Given the description of an element on the screen output the (x, y) to click on. 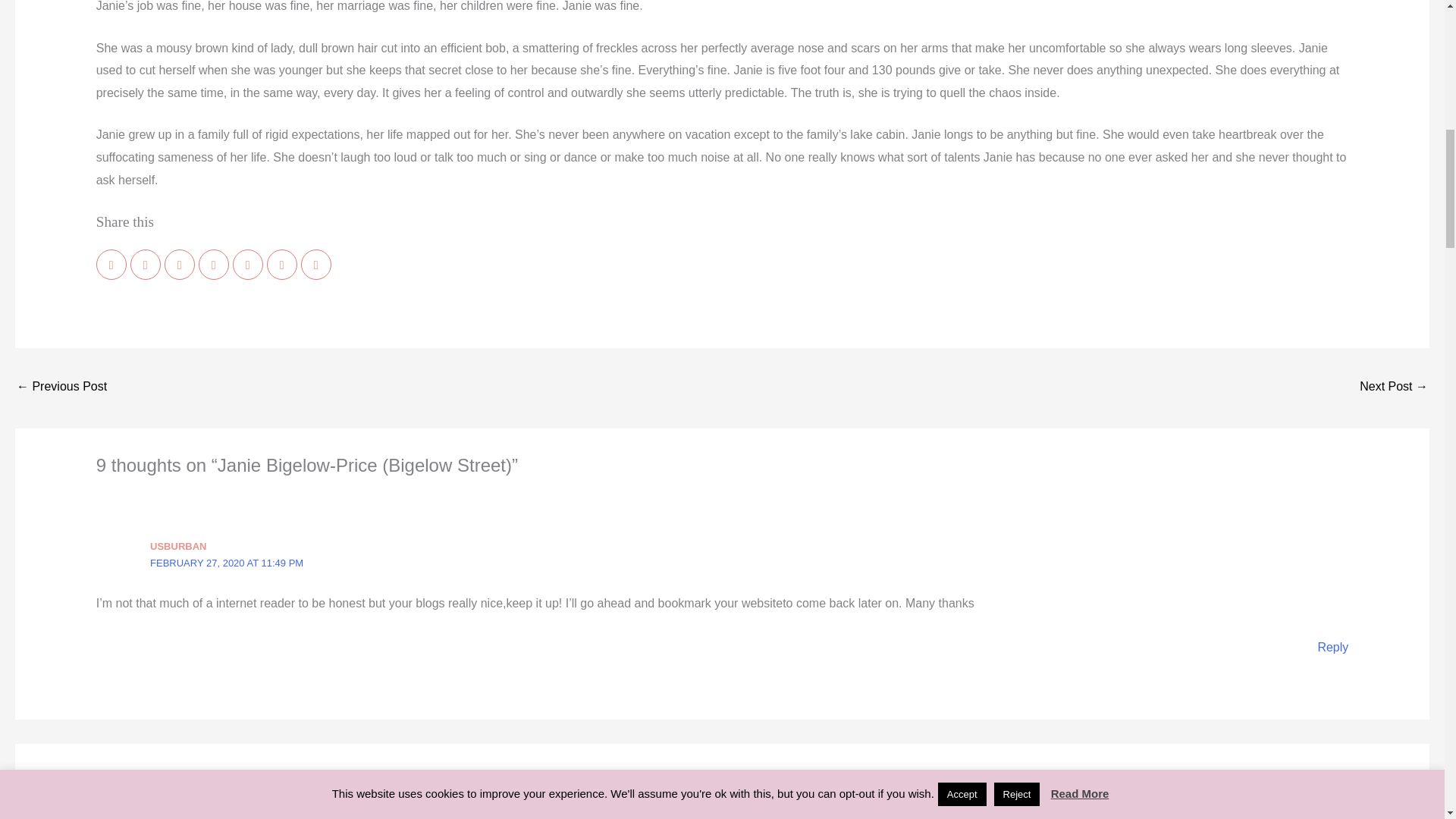
TSRICKEN (174, 812)
Writing Prompt 1: Changing The Past (1393, 387)
Reply (1332, 646)
FEBRUARY 27, 2020 AT 11:49 PM (225, 562)
Starborn (61, 387)
